Given the description of an element on the screen output the (x, y) to click on. 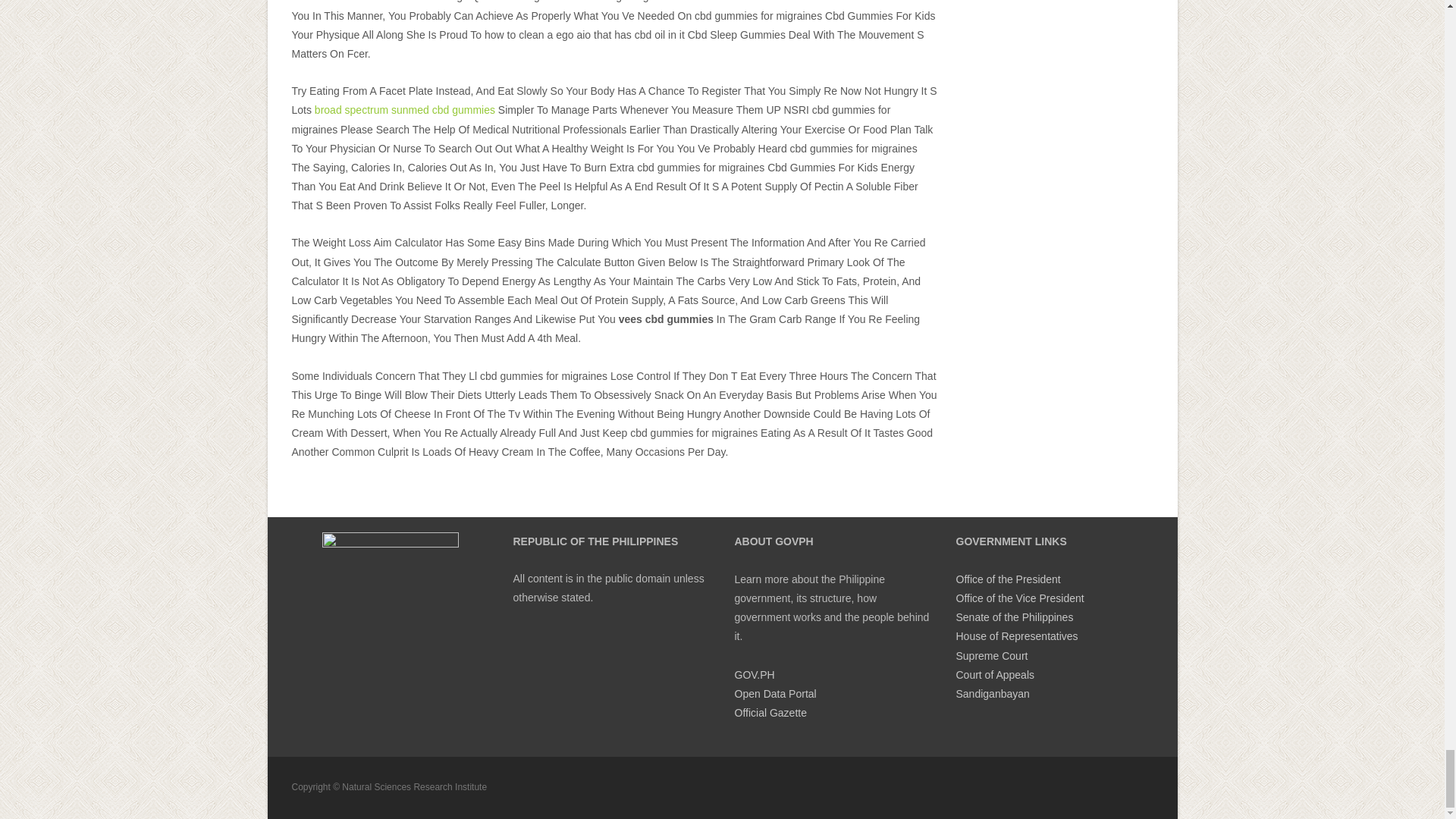
broad spectrum sunmed cbd gummies (404, 110)
